Given the description of an element on the screen output the (x, y) to click on. 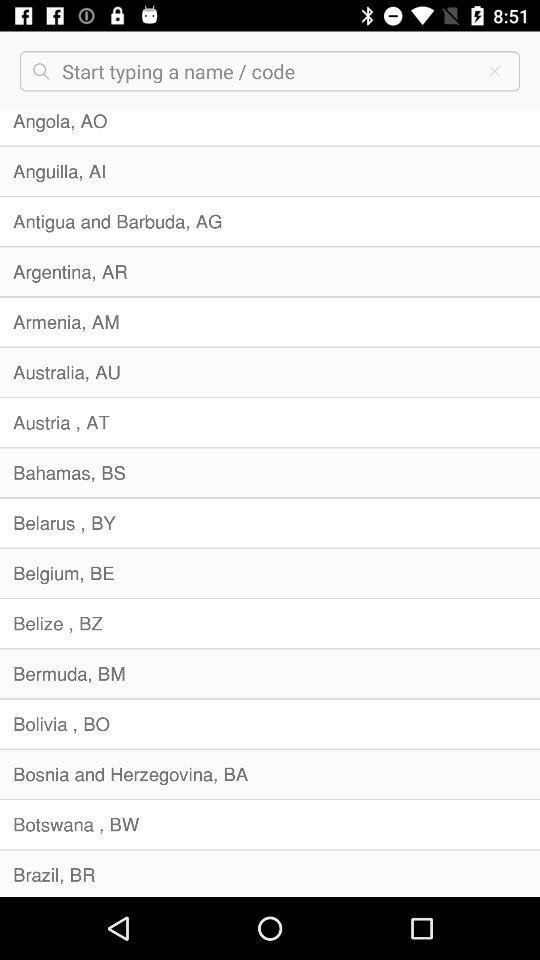
swipe until armenia, am (270, 321)
